Given the description of an element on the screen output the (x, y) to click on. 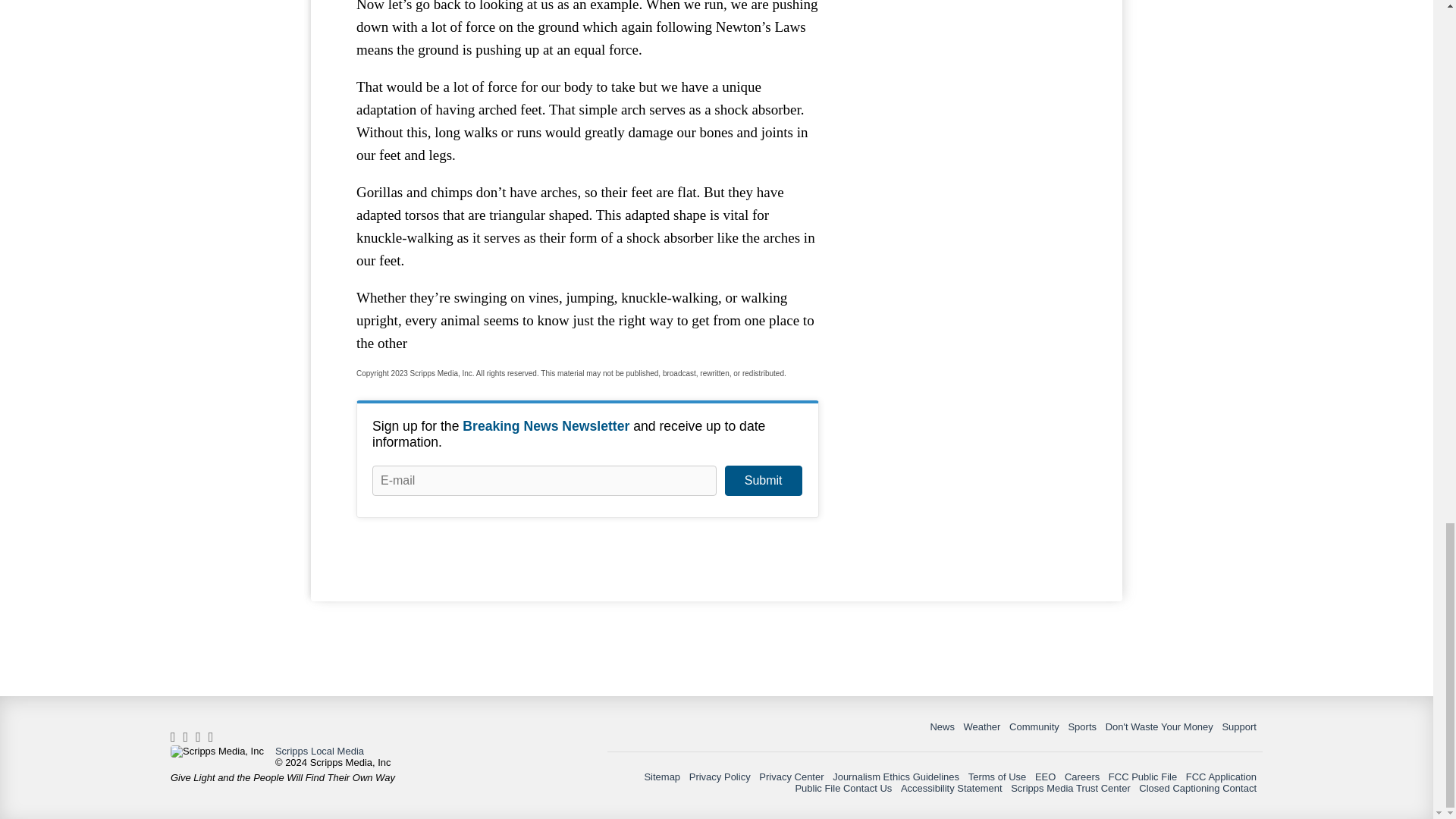
Submit (763, 481)
